Given the description of an element on the screen output the (x, y) to click on. 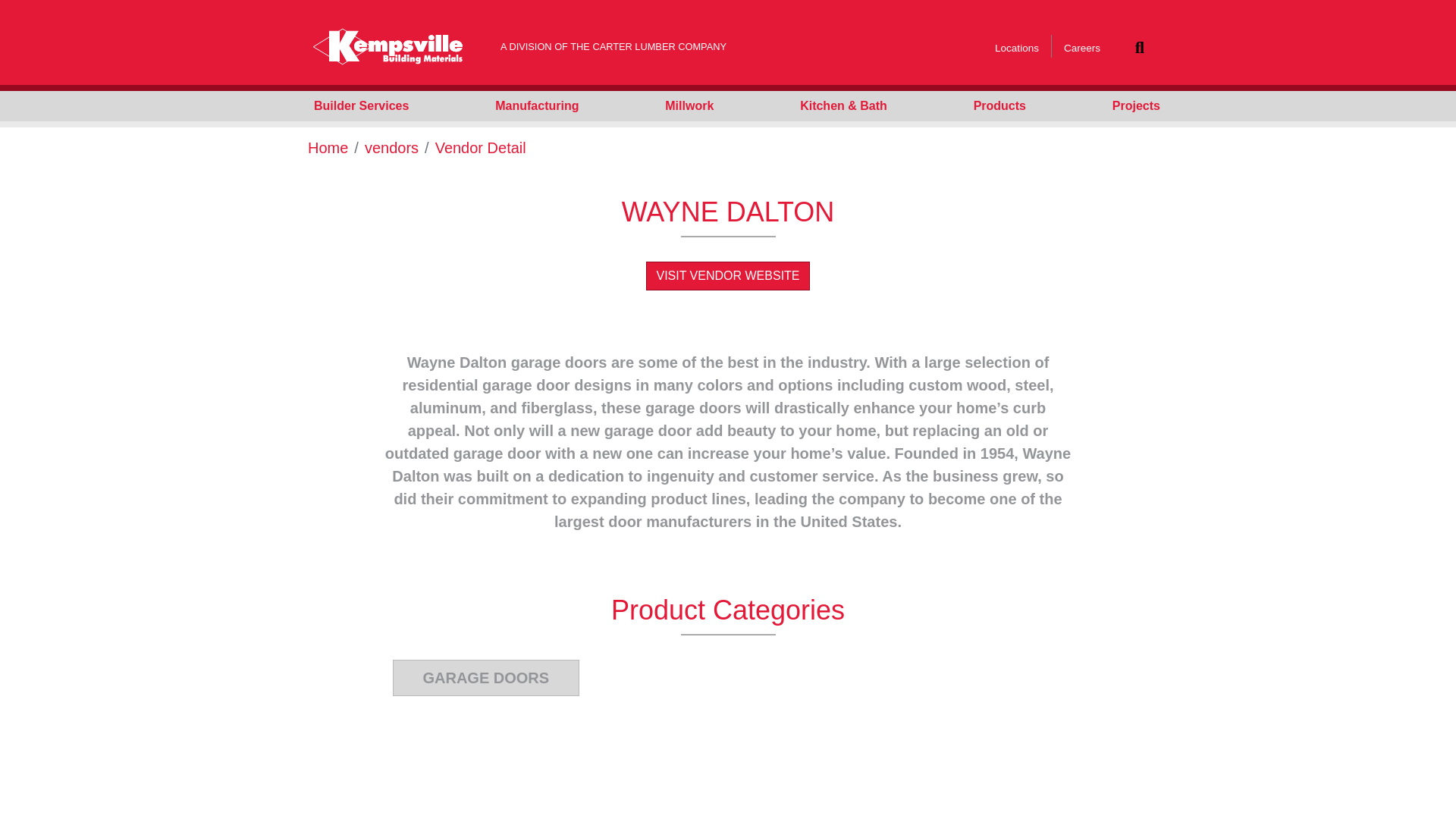
Millwork (689, 105)
Manufacturing (536, 105)
Builder Services (361, 105)
Locations (1016, 48)
Careers (1082, 48)
